Given the description of an element on the screen output the (x, y) to click on. 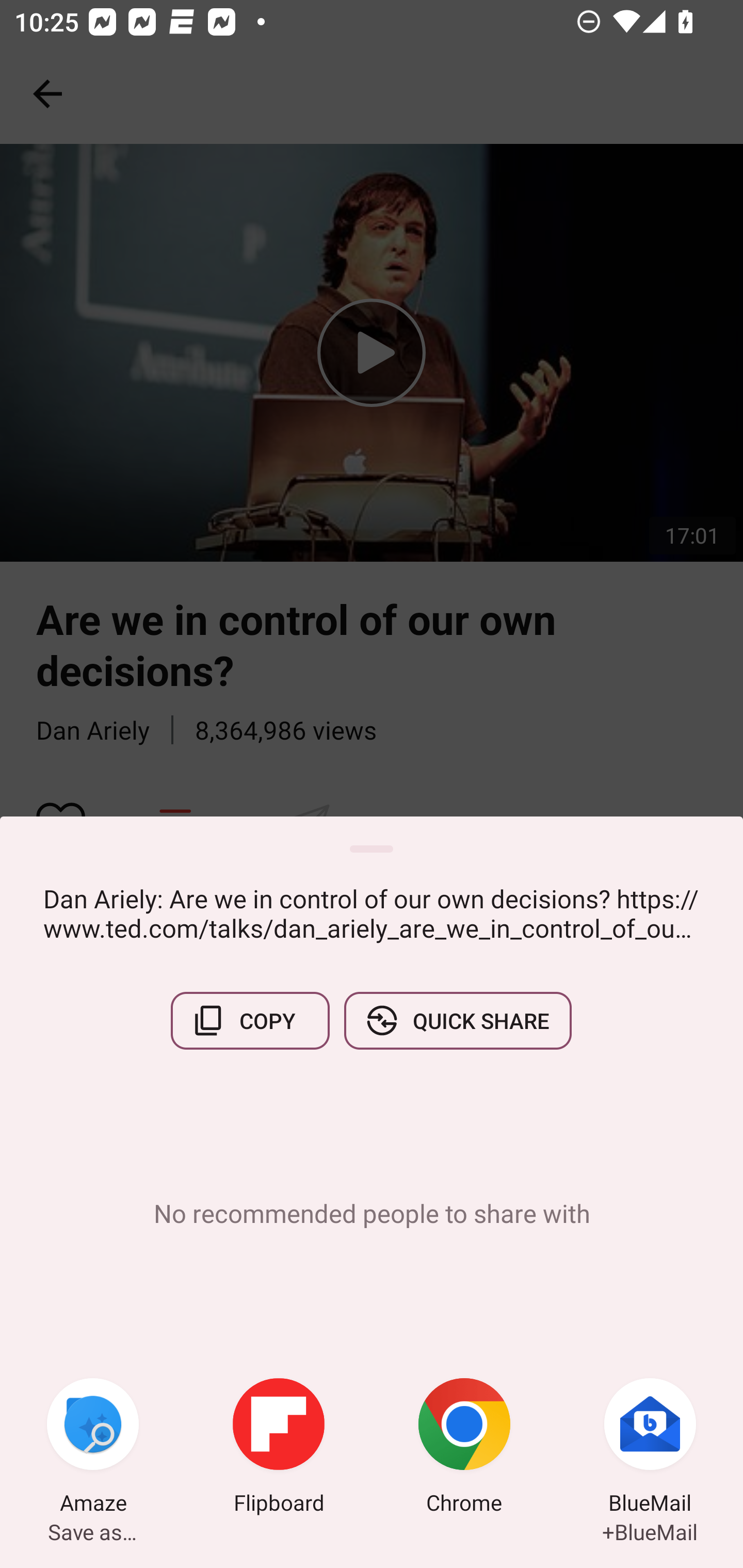
COPY (249, 1020)
QUICK SHARE (457, 1020)
Amaze Save as… (92, 1448)
Flipboard (278, 1448)
Chrome (464, 1448)
BlueMail +BlueMail (650, 1448)
